Given the description of an element on the screen output the (x, y) to click on. 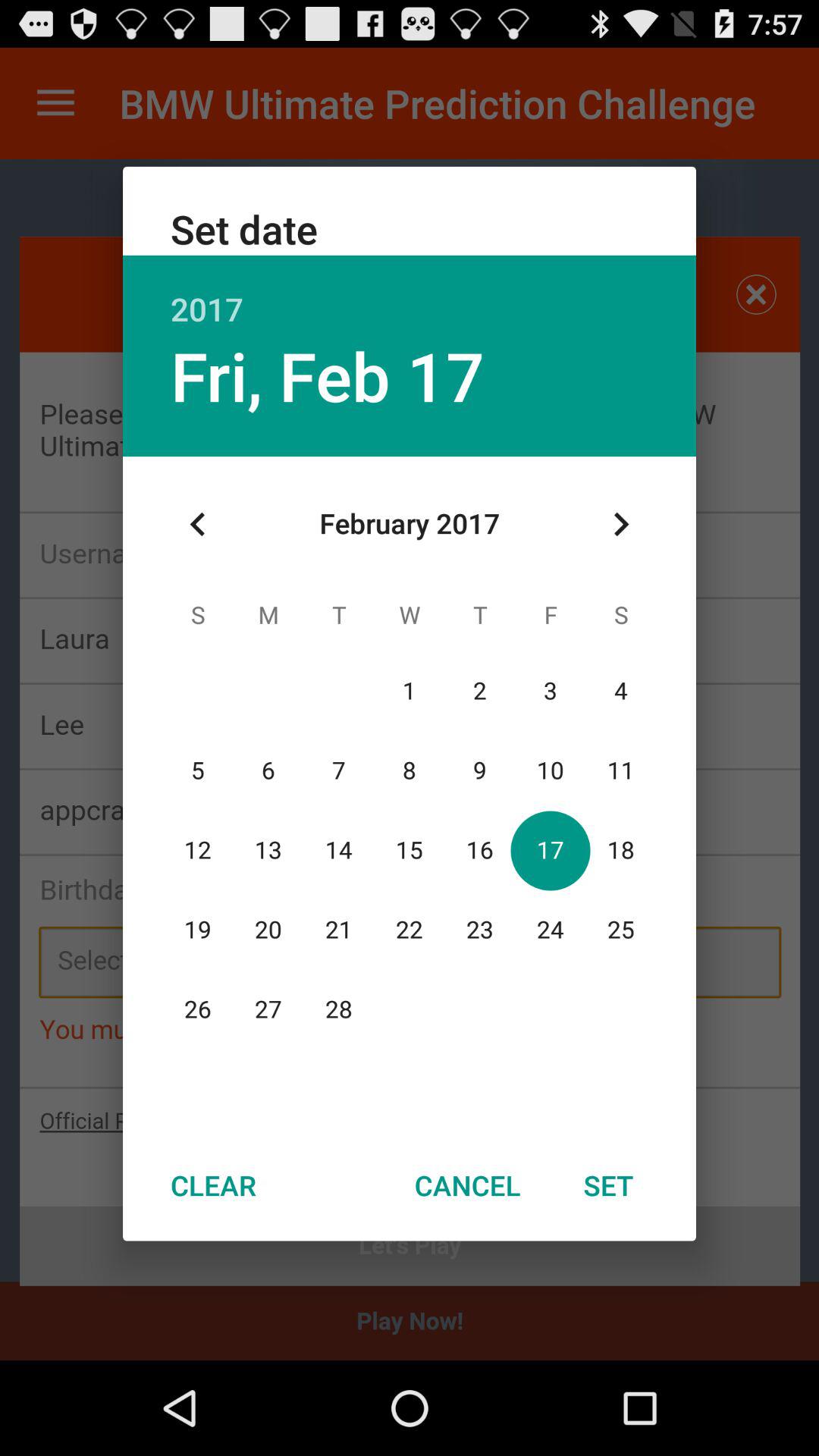
press item above clear item (197, 524)
